Given the description of an element on the screen output the (x, y) to click on. 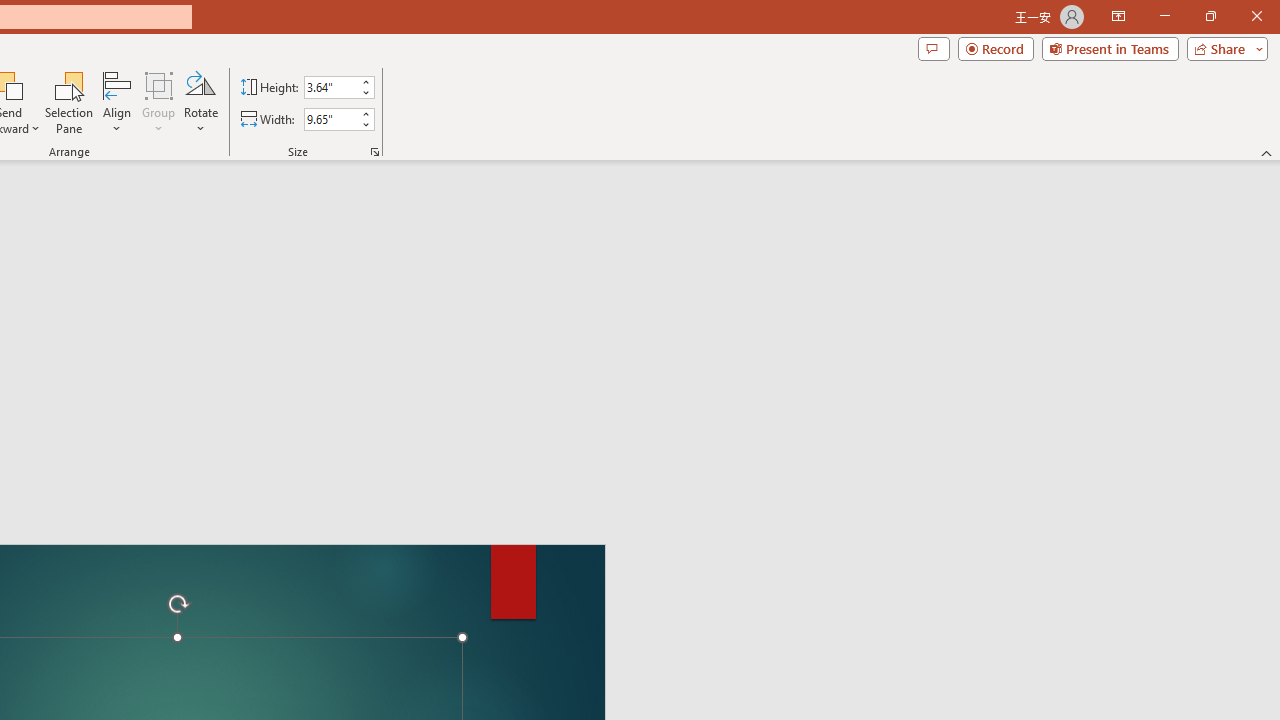
Align (117, 102)
Shape Height (330, 87)
